Given the description of an element on the screen output the (x, y) to click on. 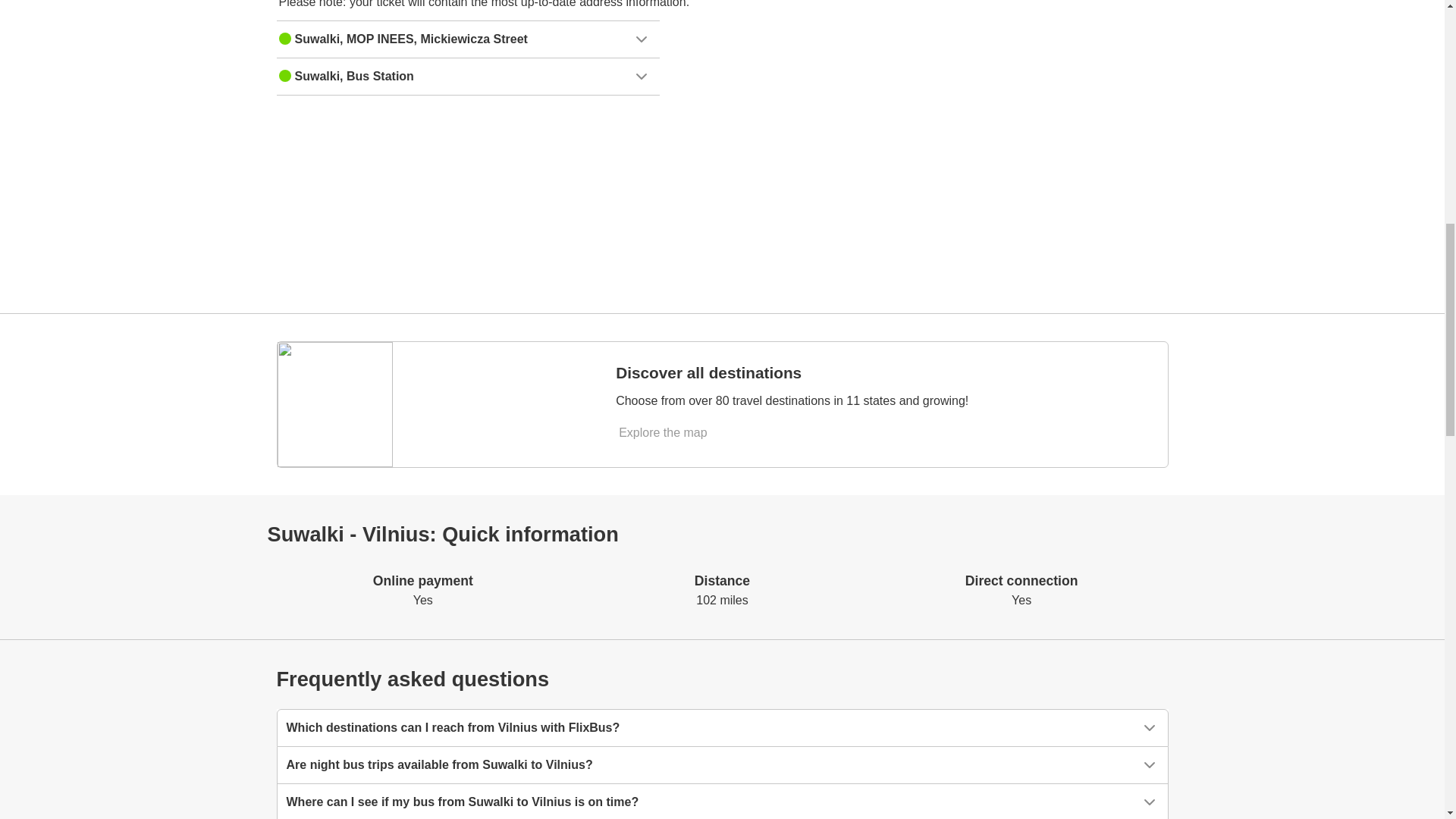
Explore the map (664, 432)
